Given the description of an element on the screen output the (x, y) to click on. 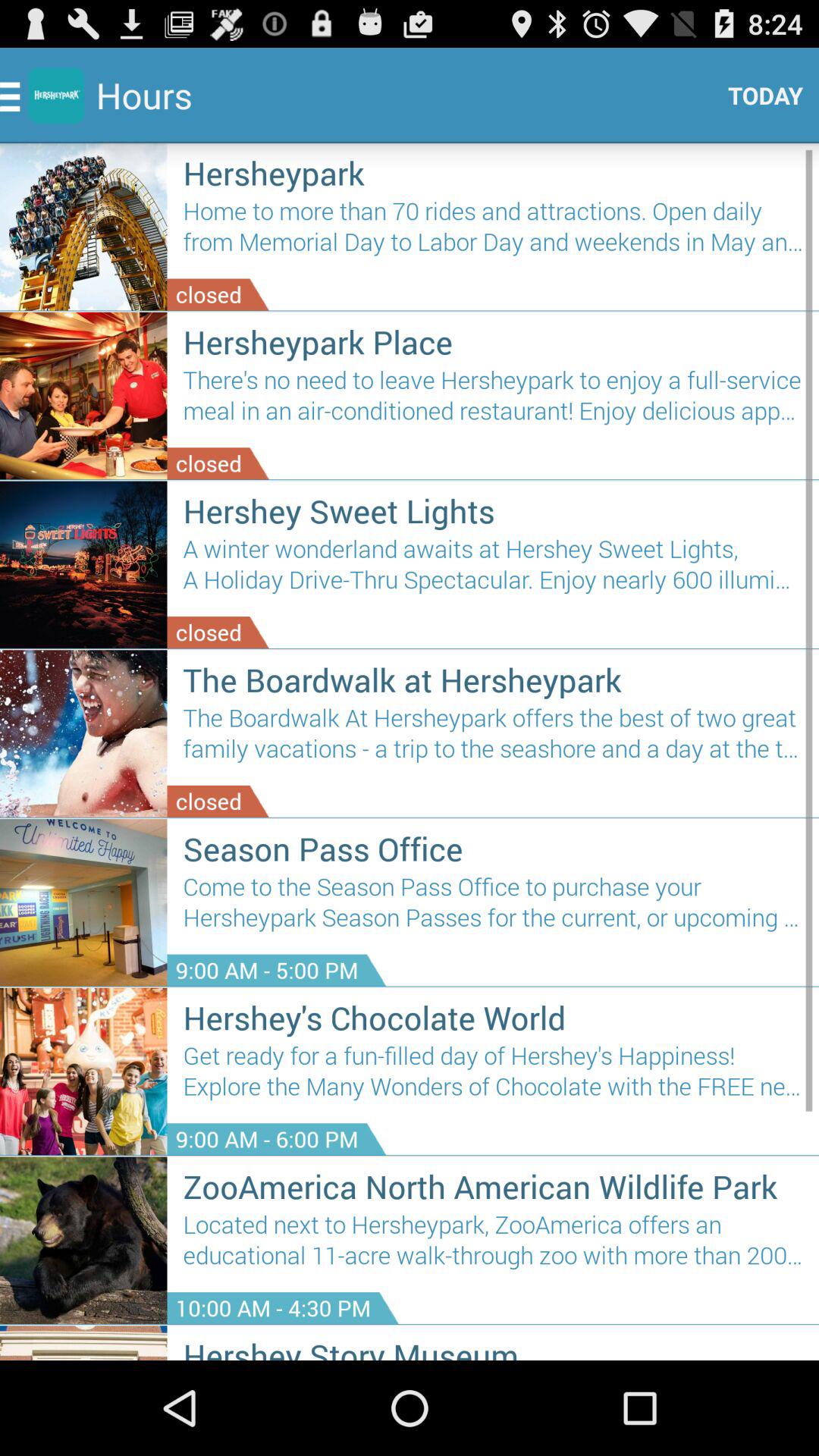
launch get ready for icon (493, 1077)
